Given the description of an element on the screen output the (x, y) to click on. 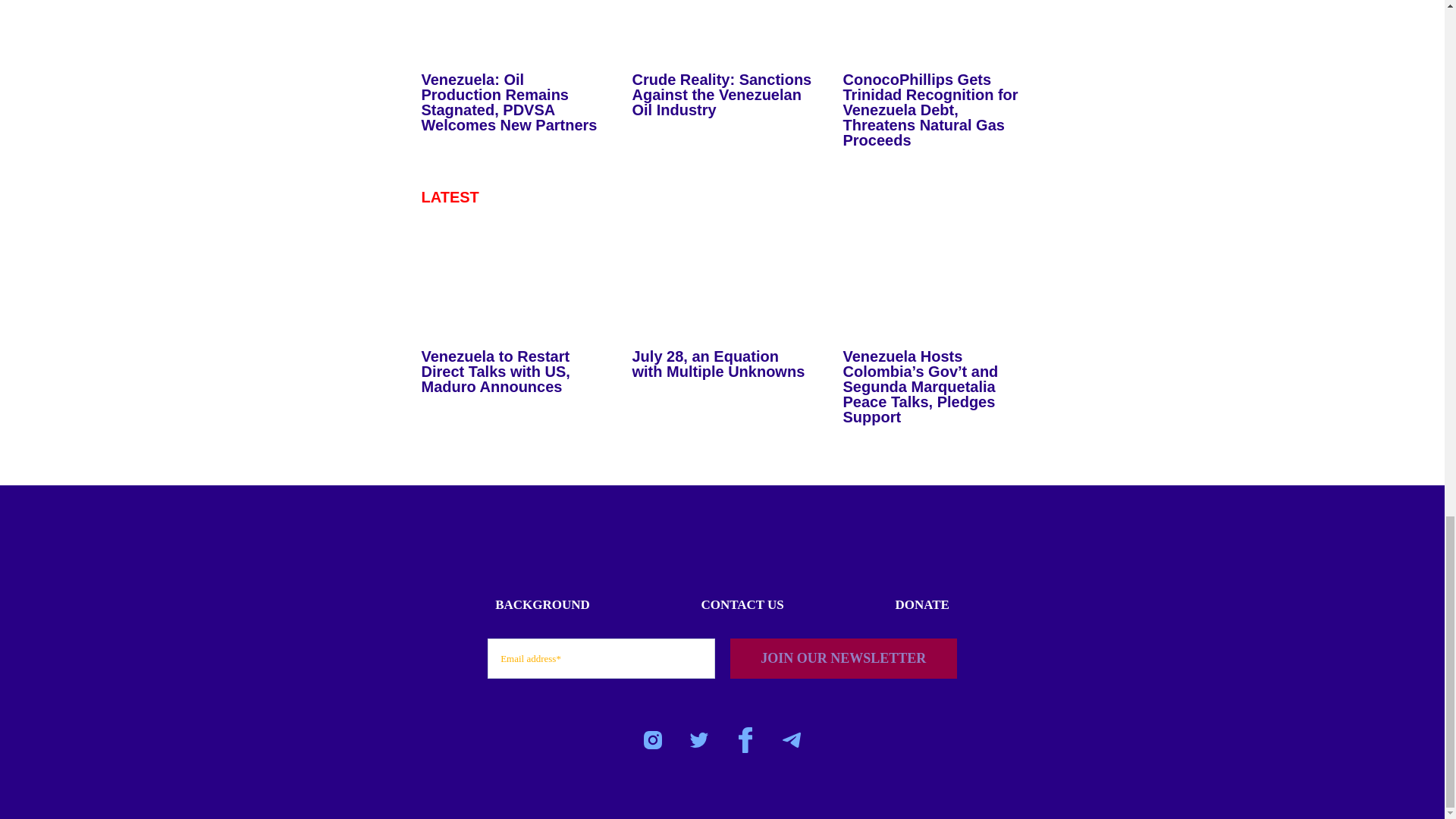
Crude Reality: Sanctions Against the Venezuelan Oil Industry (721, 94)
Crude Reality: Sanctions Against the Venezuelan Oil Industry (721, 94)
Crude Reality: Sanctions Against the Venezuelan Oil Industry (721, 34)
JOIN OUR NEWSLETTER (842, 658)
